Given the description of an element on the screen output the (x, y) to click on. 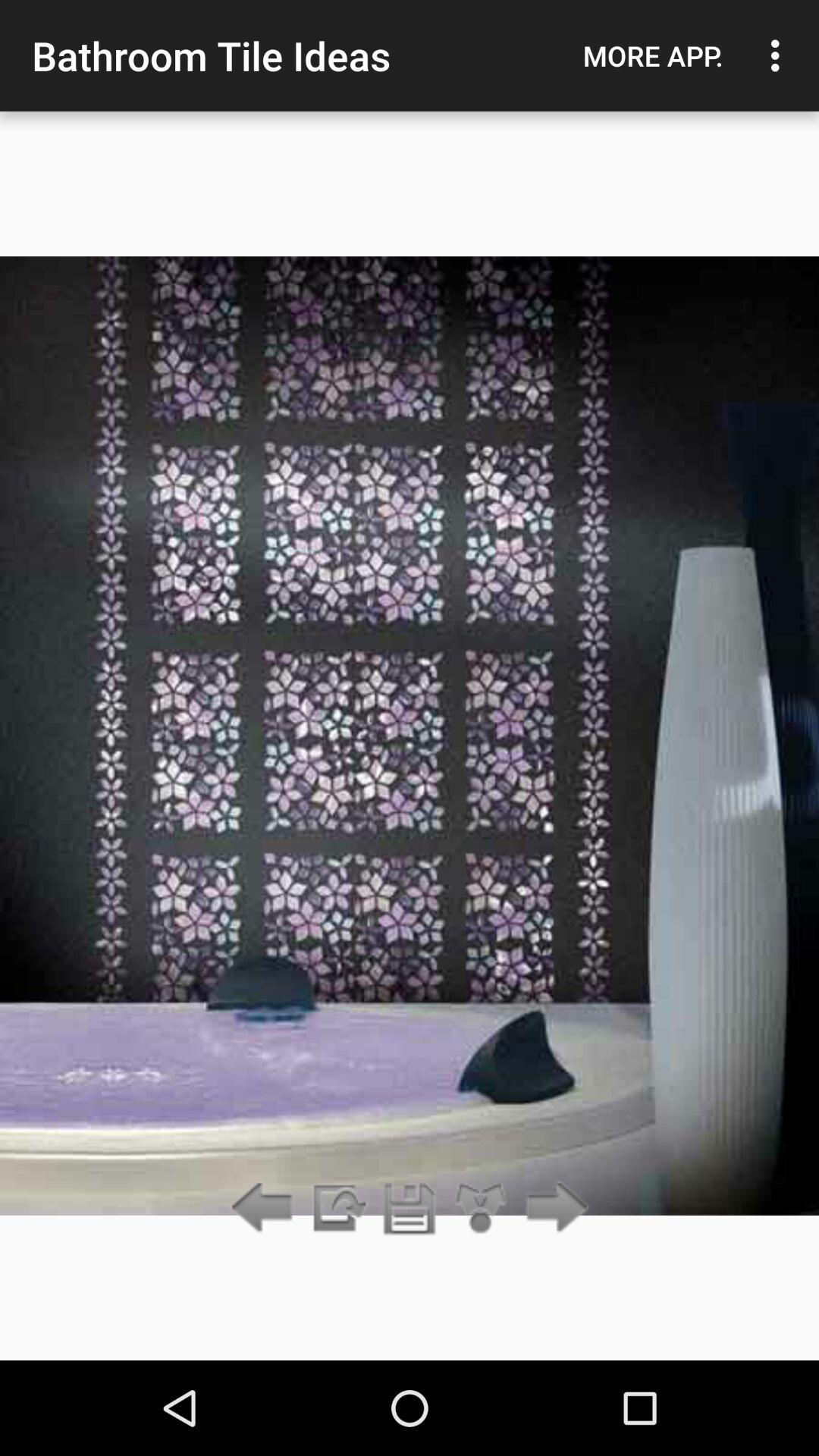
share (480, 1208)
